Given the description of an element on the screen output the (x, y) to click on. 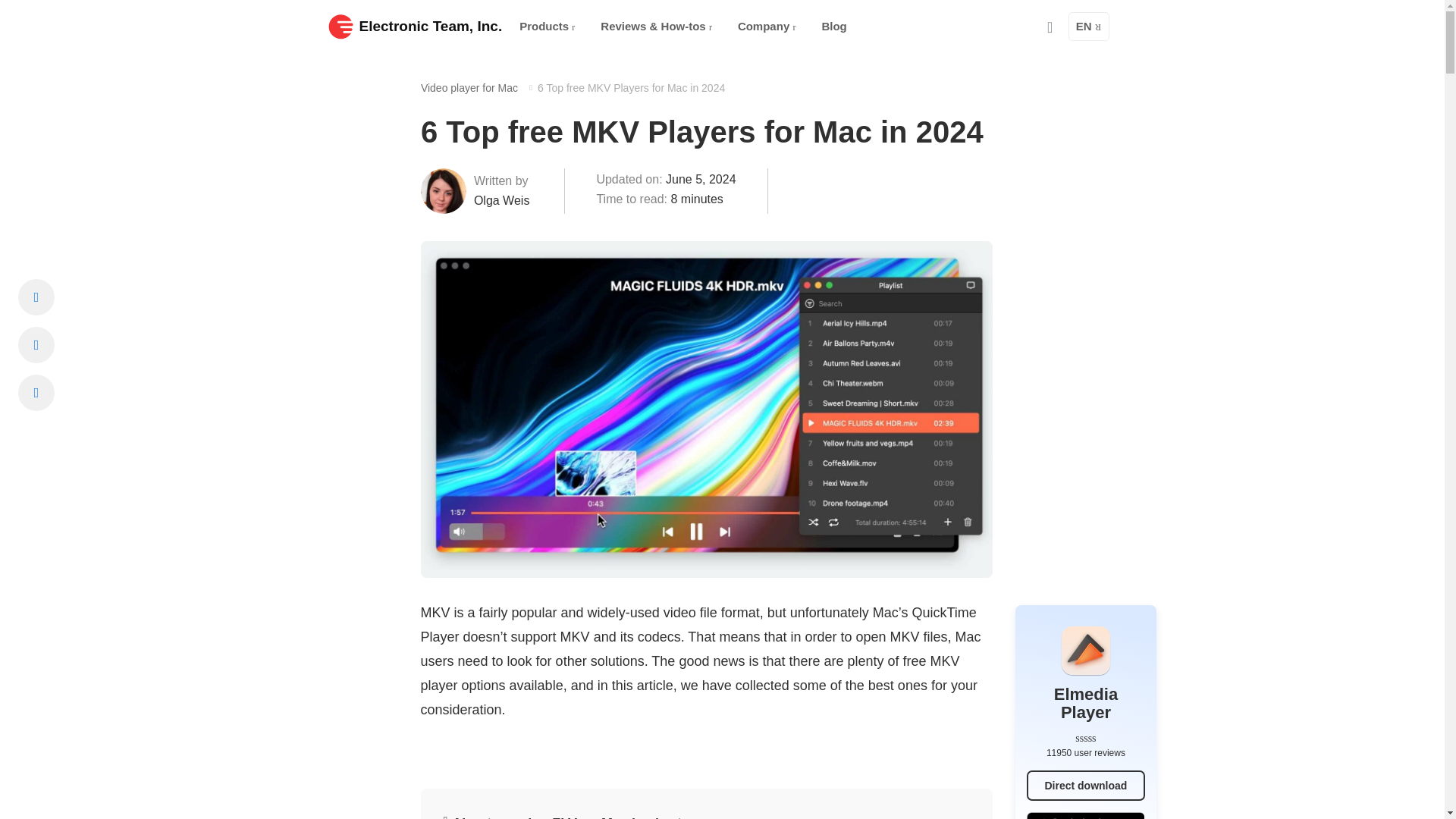
EN (1088, 26)
Products (547, 26)
Blog (834, 26)
Company (767, 26)
Blog (834, 26)
Electronic Team, Inc. (414, 25)
